Given the description of an element on the screen output the (x, y) to click on. 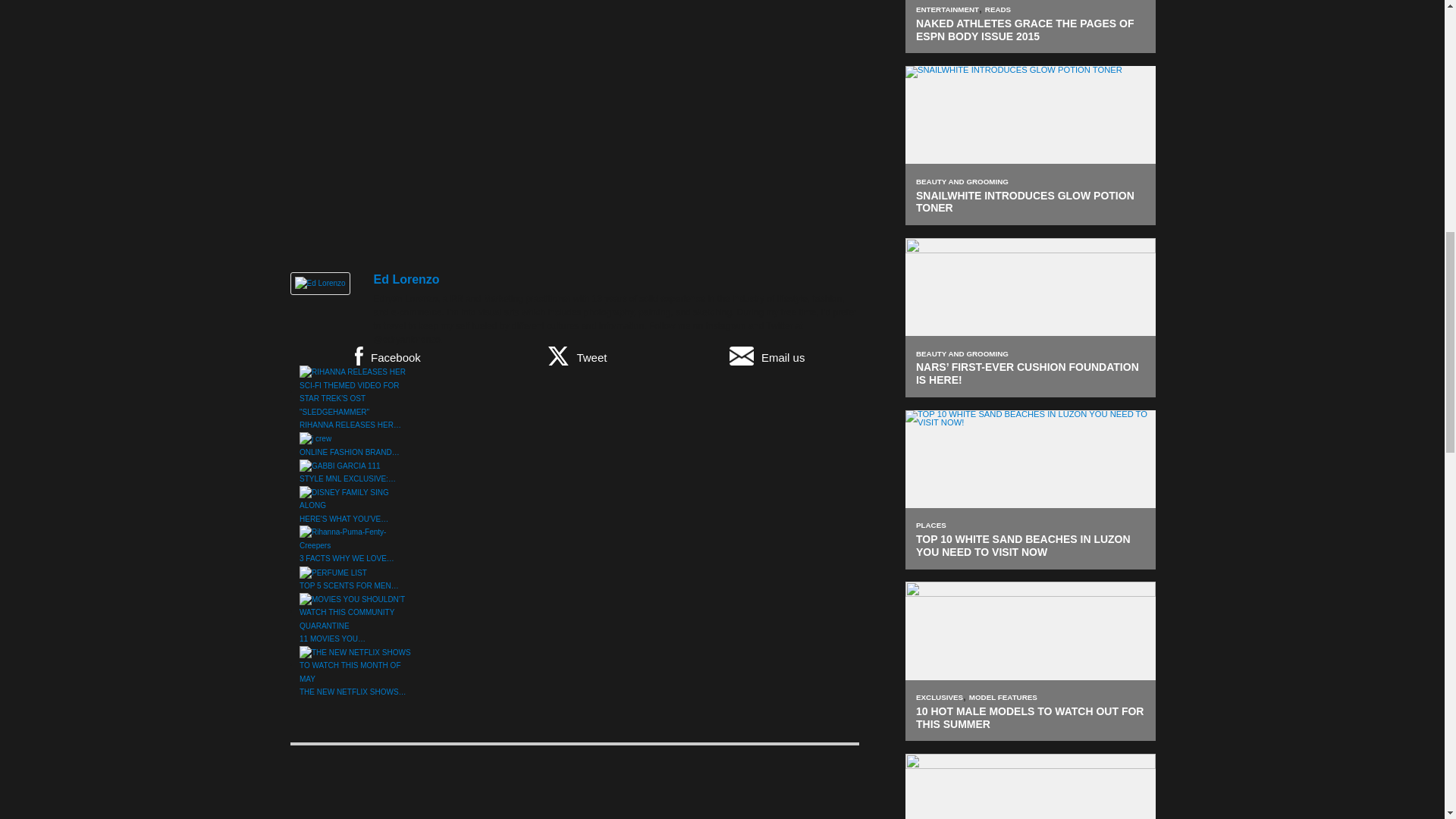
HERE'S WHAT YOU'VE MISSED AT ABC'S DISNEY FAMILY SINGALONG! (356, 499)
THE NEW NETFLIX SHOWS TO WATCH THIS MONTH OF MAY (356, 666)
Ed Lorenzo (319, 283)
TOP 5 SCENTS FOR MEN AND WOMEN TO TRY THIS YEAR (332, 572)
Ed Lorenzo (405, 278)
Tweet (576, 355)
STYLE MNL EXCLUSIVE: TAKING THE LEAD FEATURING GABBI GARCIA (339, 466)
Facebook (387, 355)
